Given the description of an element on the screen output the (x, y) to click on. 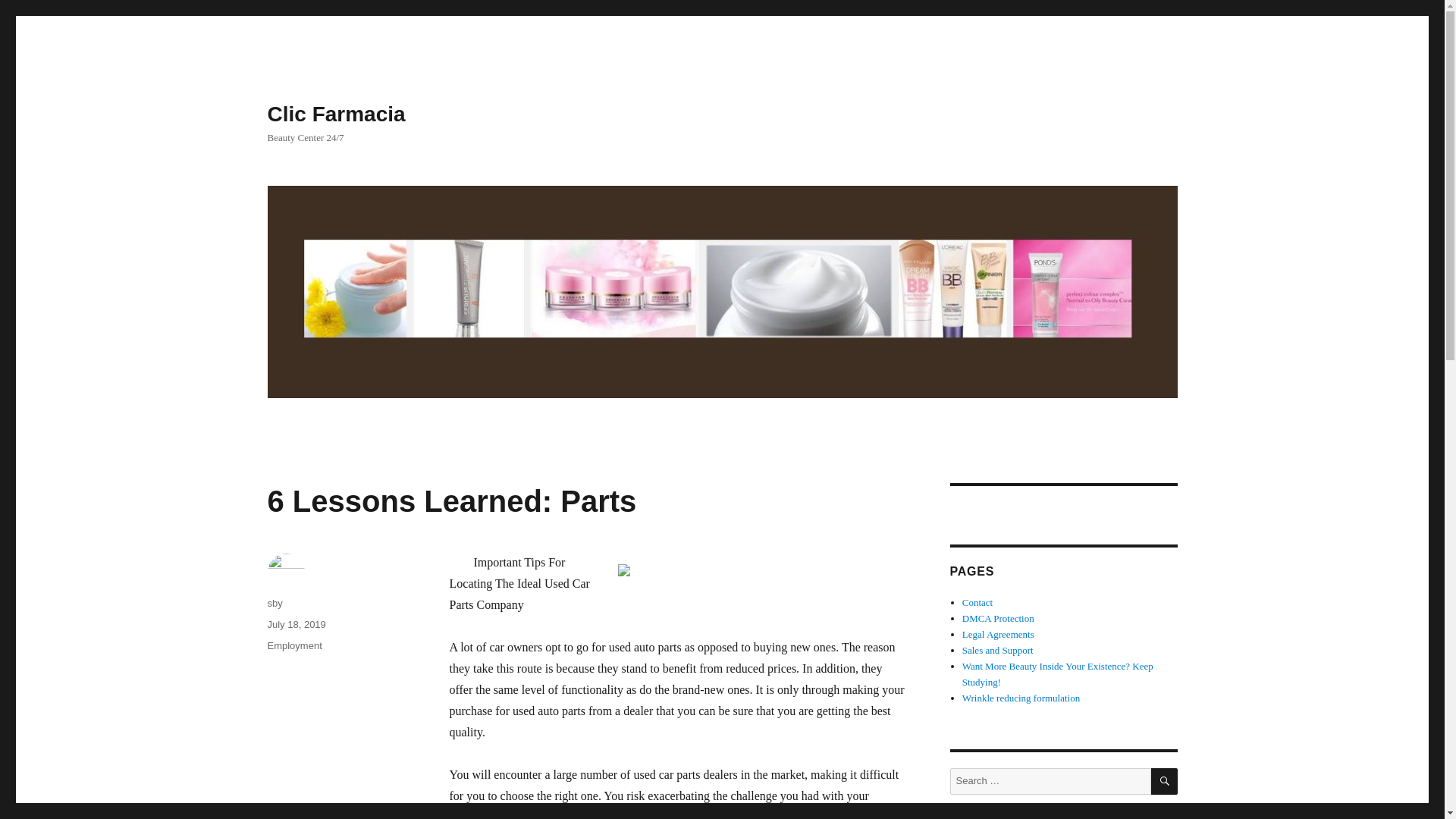
Wrinkle reducing formulation (1021, 697)
Sales and Support (997, 650)
July 18, 2019 (295, 624)
Employment (293, 645)
DMCA Protection (997, 618)
Clic Farmacia (335, 114)
sby (274, 603)
Legal Agreements (997, 633)
Contact (977, 602)
Want More Beauty Inside Your Existence? Keep Studying! (1057, 673)
SEARCH (1164, 781)
